Given the description of an element on the screen output the (x, y) to click on. 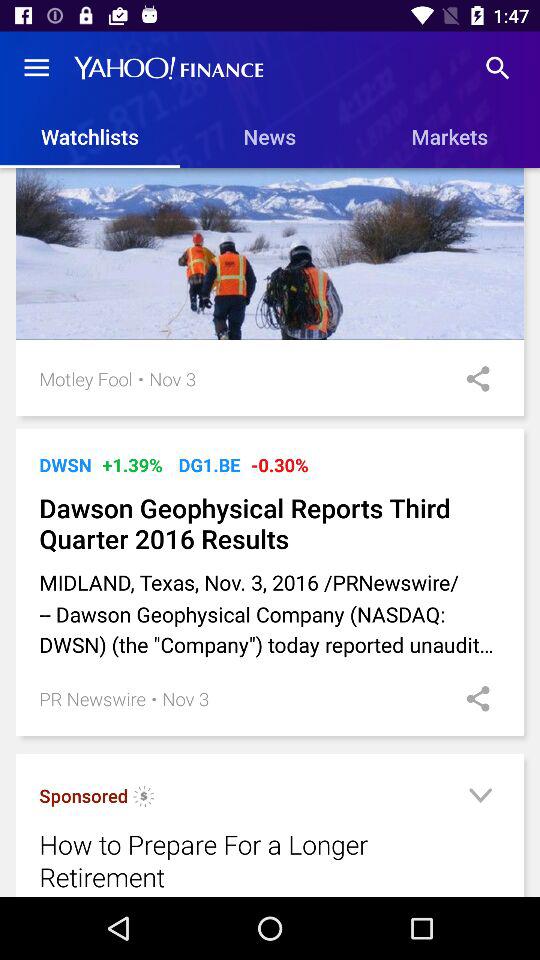
jump to the sponsored icon (83, 795)
